Given the description of an element on the screen output the (x, y) to click on. 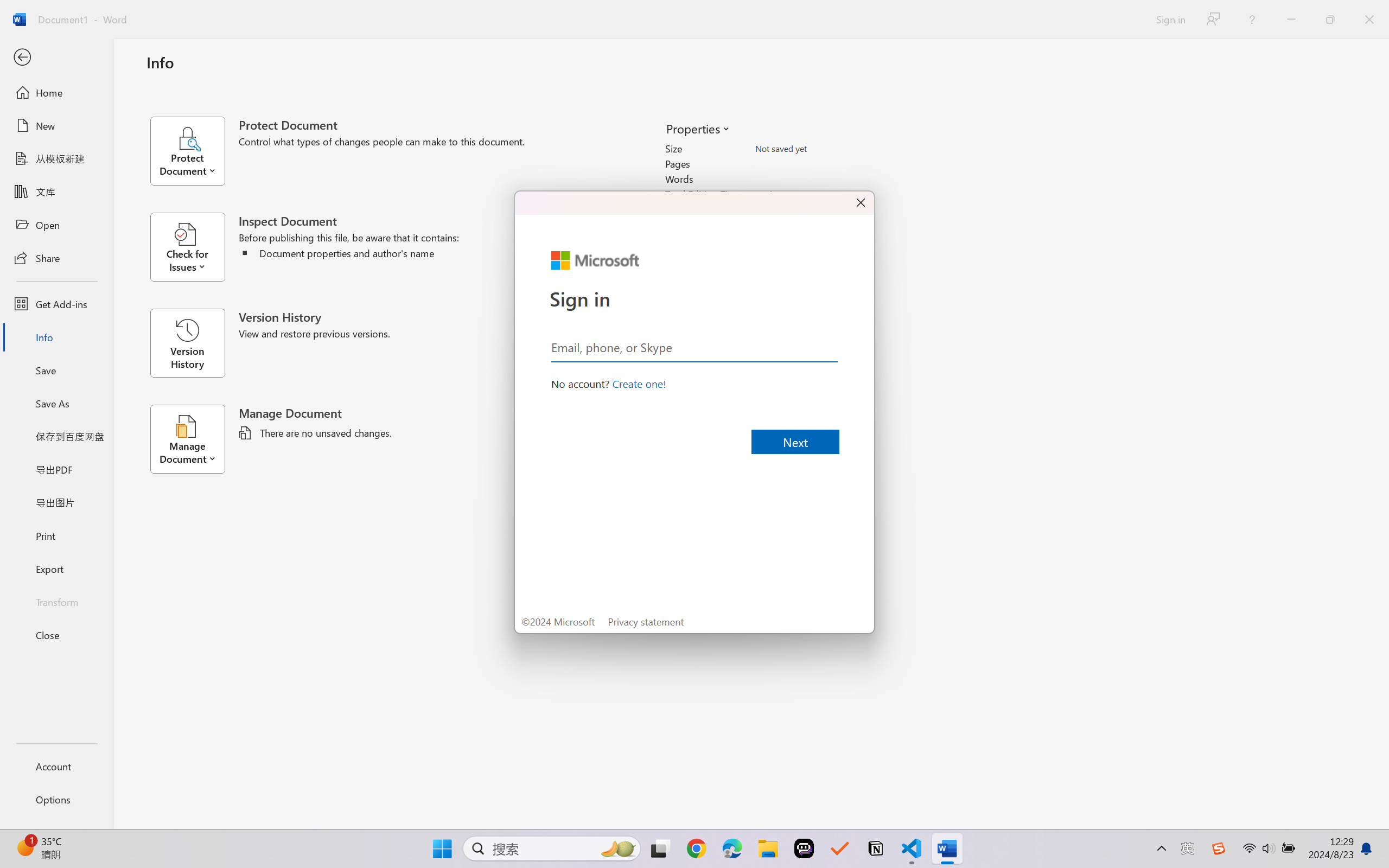
Manage Document (194, 438)
Back (56, 57)
Protect Document (194, 150)
Version History (187, 343)
Account (56, 765)
Get Add-ins (56, 303)
